Given the description of an element on the screen output the (x, y) to click on. 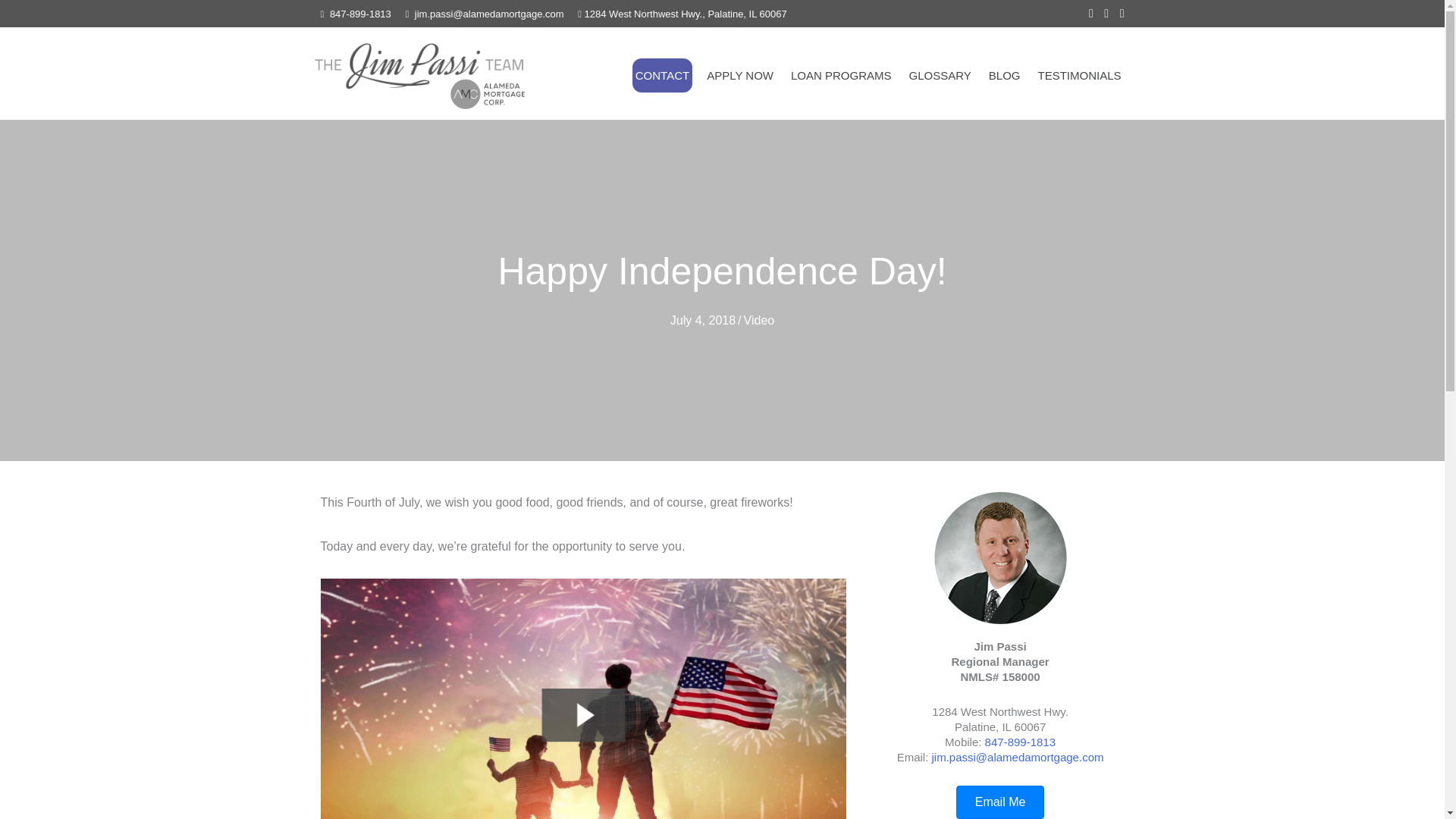
GLOSSARY (939, 75)
847-899-1813 (360, 13)
TESTIMONIALS (1078, 75)
847-899-1813 (1020, 741)
LOAN PROGRAMS (841, 75)
Email Me (1000, 802)
logo-jim-passi-team (418, 75)
CONTACT (662, 75)
APPLY NOW (739, 75)
Video (759, 319)
Jim Passi - Citiwide Home Loans (1000, 557)
BLOG (1004, 75)
1284 West Northwest Hwy., Palatine, IL 60067 (686, 13)
